Given the description of an element on the screen output the (x, y) to click on. 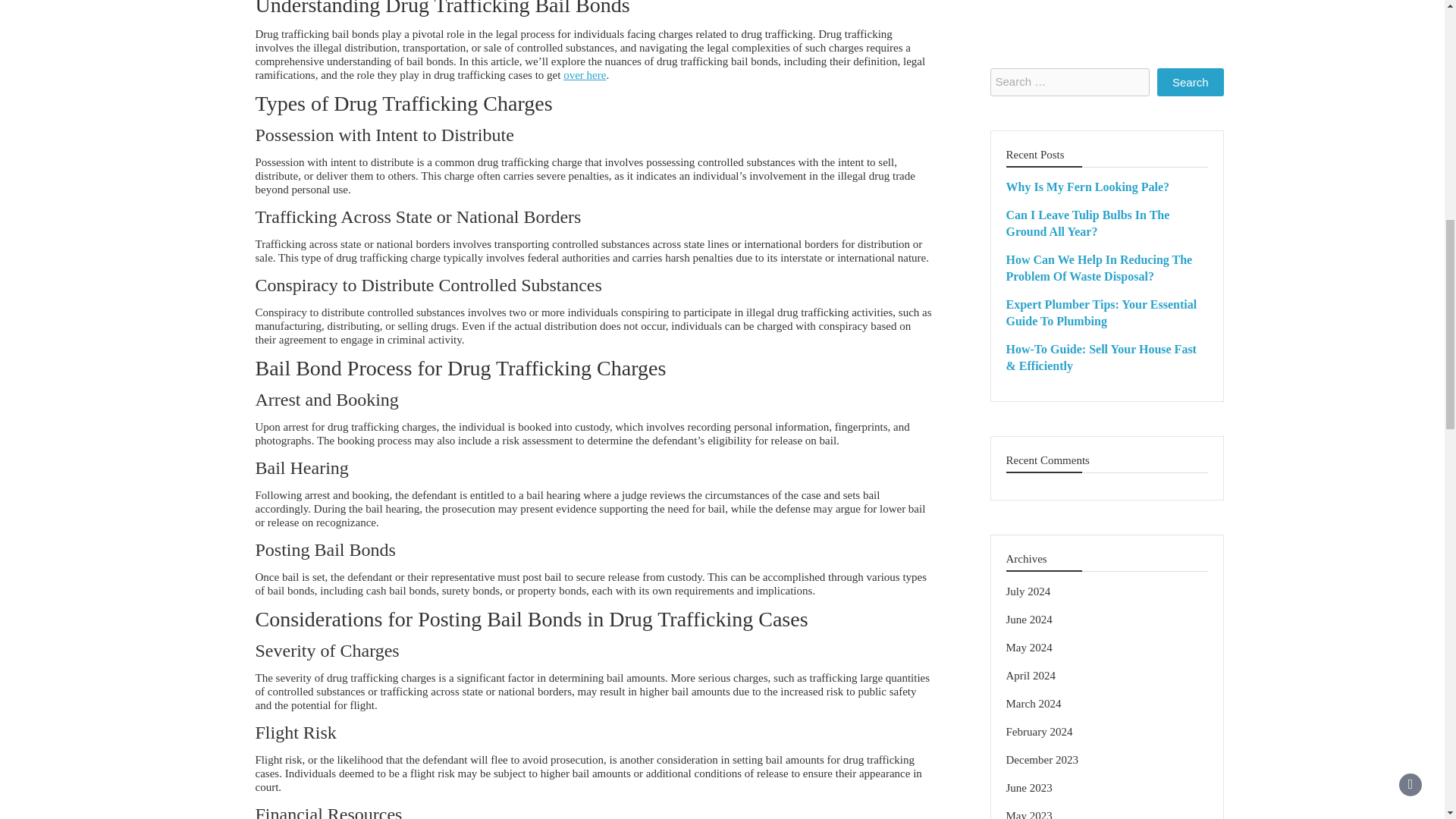
over here (584, 74)
